Given the description of an element on the screen output the (x, y) to click on. 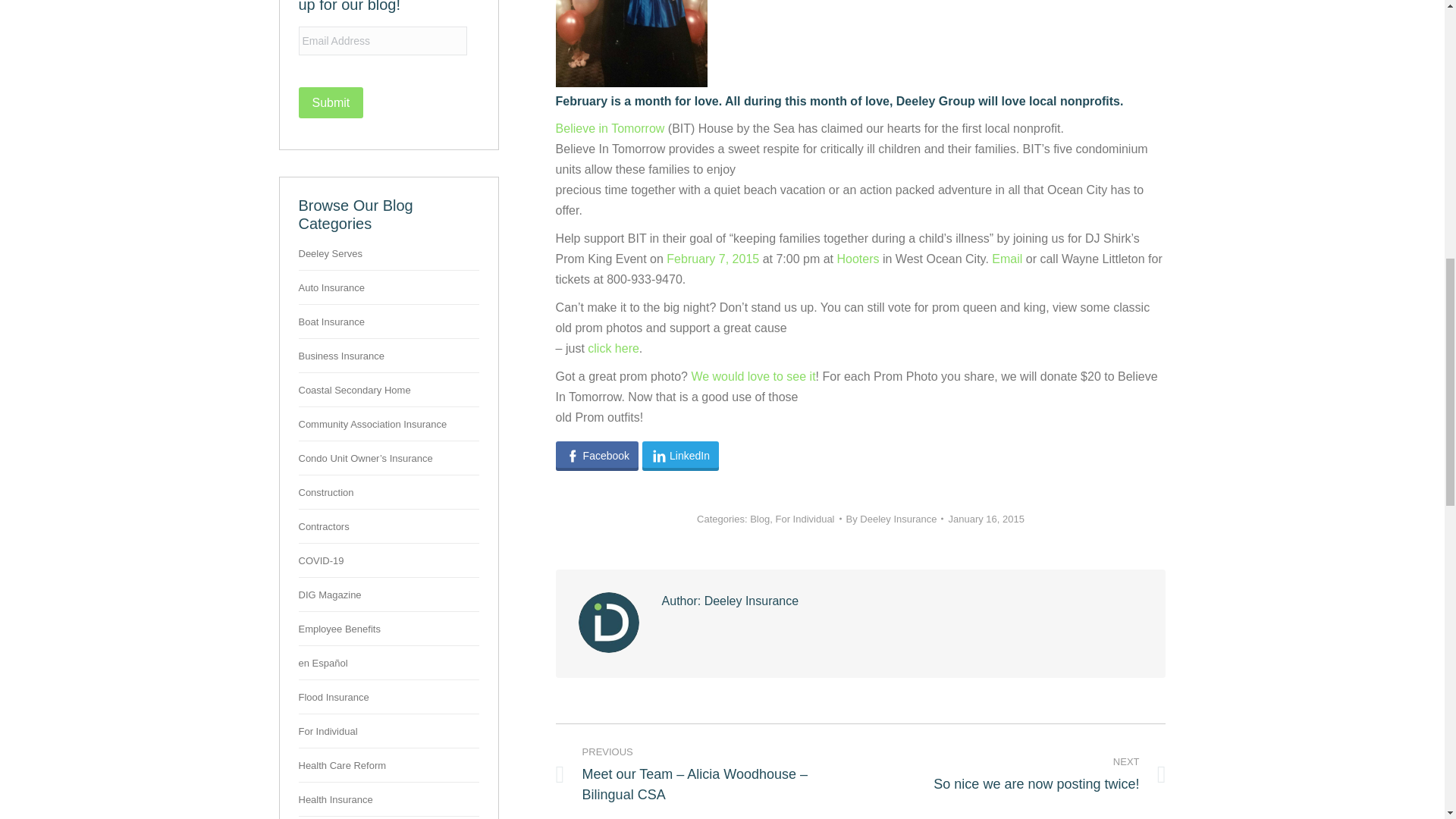
1:04 pm (985, 518)
Submit (331, 101)
View all posts by Deeley Insurance (894, 518)
